Given the description of an element on the screen output the (x, y) to click on. 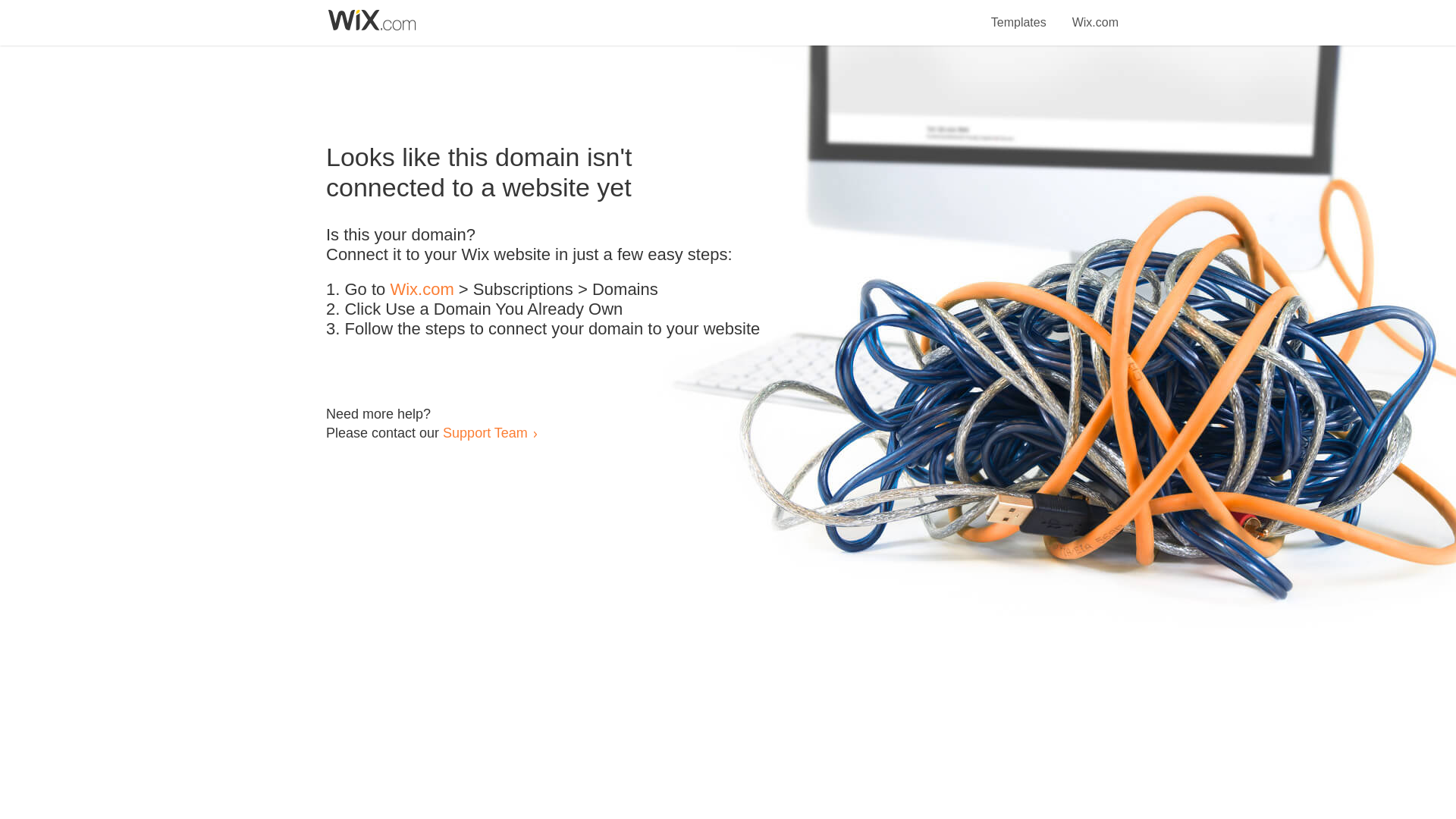
Wix.com (1095, 14)
Wix.com (421, 289)
Templates (1018, 14)
Support Team (484, 432)
